Given the description of an element on the screen output the (x, y) to click on. 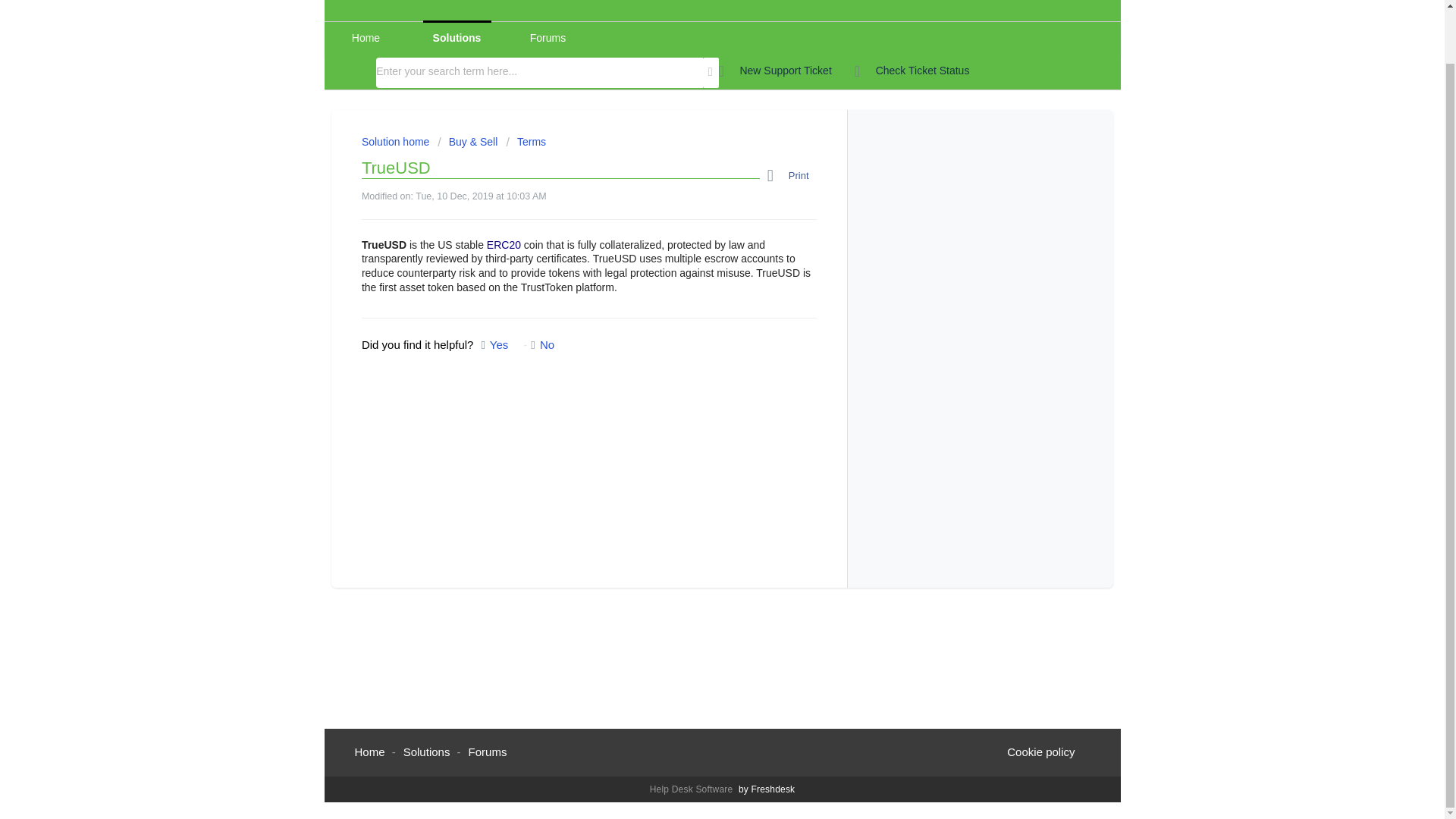
Home (365, 38)
Solutions (457, 38)
Terms (526, 141)
Forums (547, 38)
Help Desk Software (693, 788)
Home (370, 751)
Solutions (426, 751)
Solution home (396, 141)
ERC20 (503, 244)
Forums (487, 751)
ERC20 (503, 244)
